Given the description of an element on the screen output the (x, y) to click on. 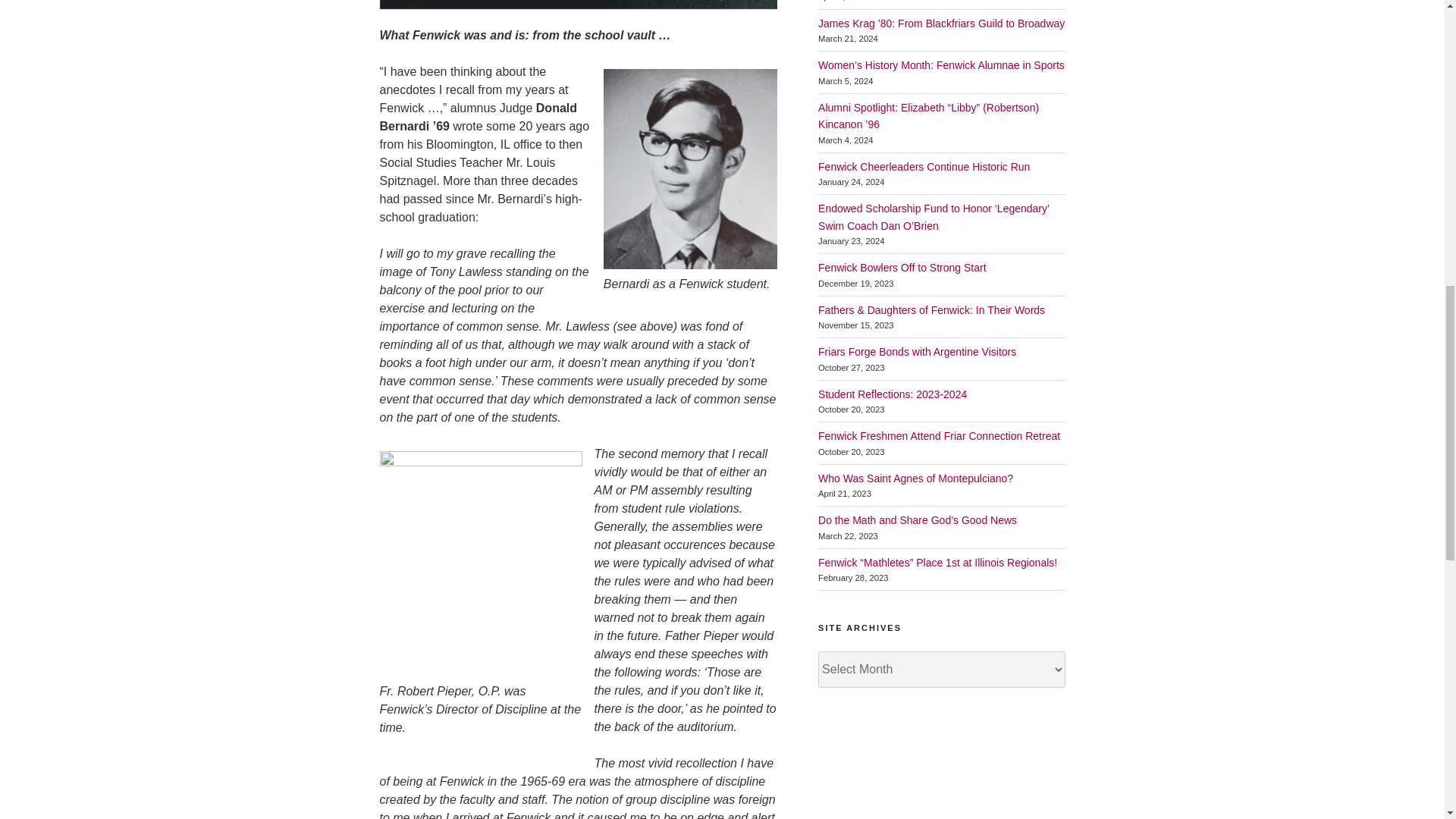
Fenwick Bowlers Off to Strong Start (902, 267)
Fenwick Freshmen Attend Friar Connection Retreat (938, 435)
Fenwick Cheerleaders Continue Historic Run (923, 166)
Who Was Saint Agnes of Montepulciano? (915, 478)
Friars Forge Bonds with Argentine Visitors (917, 351)
Student Reflections: 2023-2024 (892, 394)
